Given the description of an element on the screen output the (x, y) to click on. 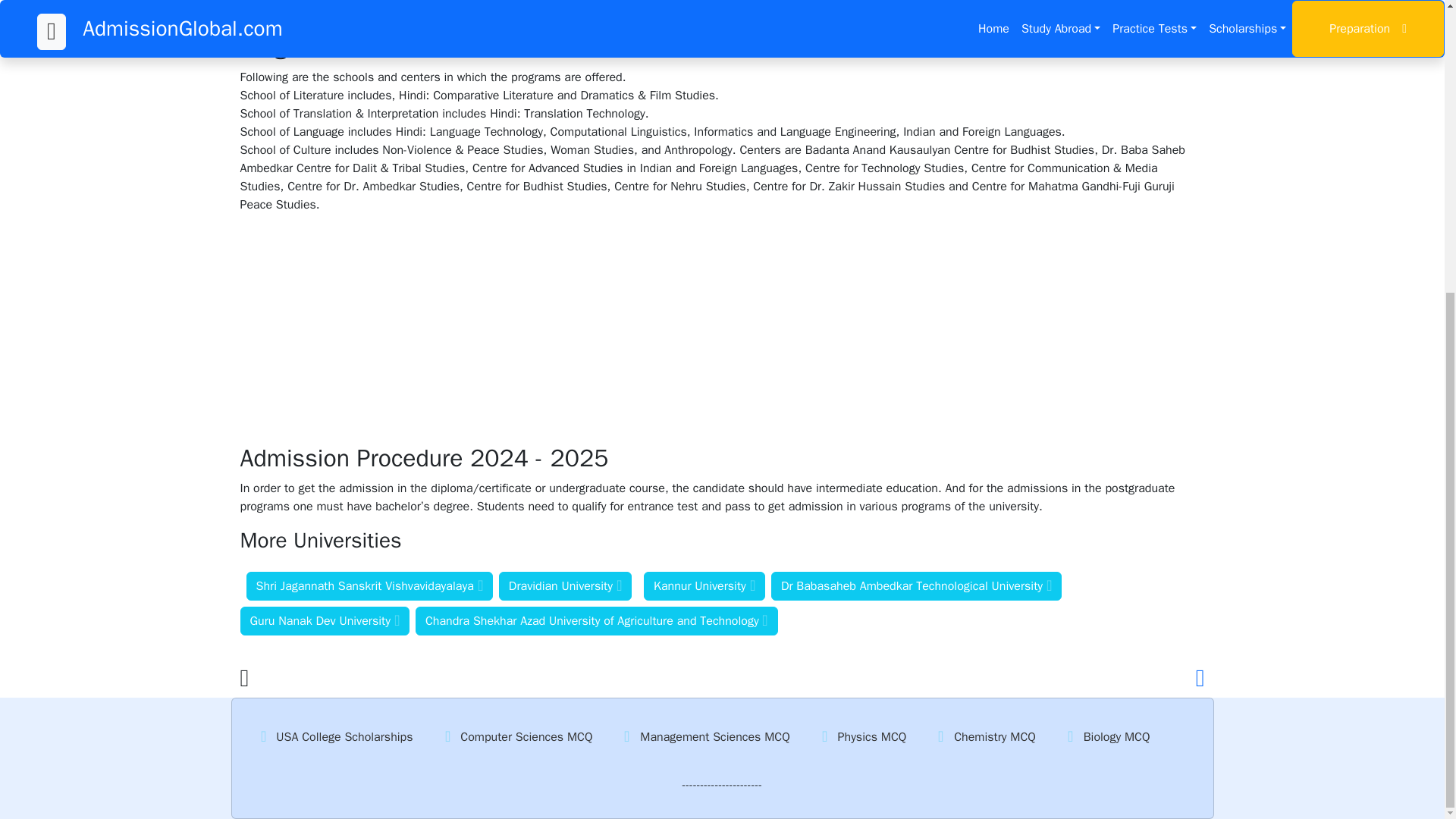
Guru Nanak Dev University (324, 620)
Advertisement (721, 13)
Dr Babasaheb Ambedkar Technological University (916, 585)
Kannur University (704, 585)
Shri Jagannath Sanskrit Vishvavidayalaya (369, 585)
Dravidian University (565, 585)
